Given the description of an element on the screen output the (x, y) to click on. 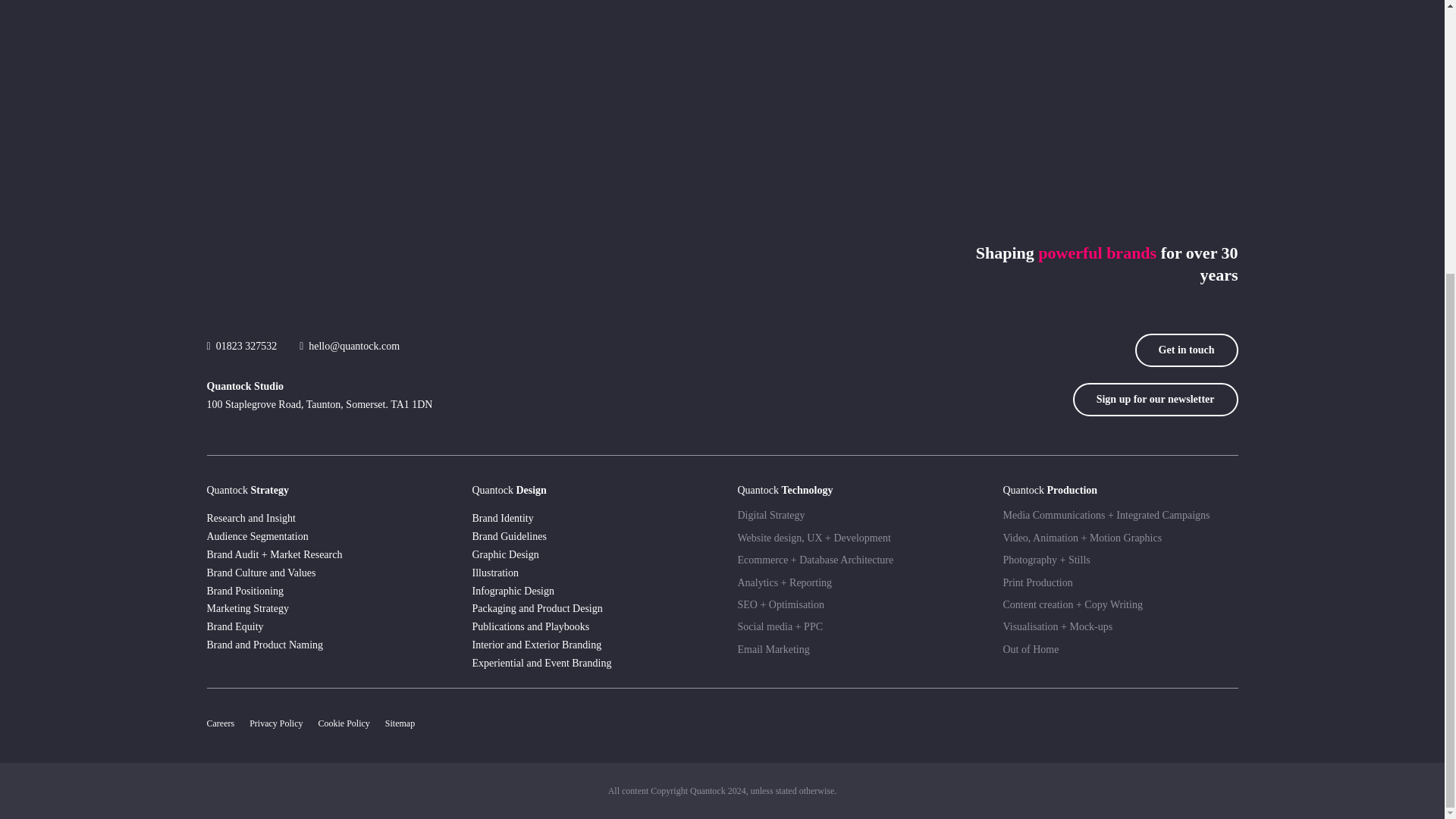
Sign up for our newsletter (1156, 399)
Audience Segmentation (323, 536)
Sitemap (399, 723)
Brand Culture and Values (323, 573)
Illustration (588, 573)
Brand Positioning (323, 591)
Packaging and Product Design (588, 608)
Careers (220, 723)
Research and Insight (323, 518)
5 (1081, 723)
